Given the description of an element on the screen output the (x, y) to click on. 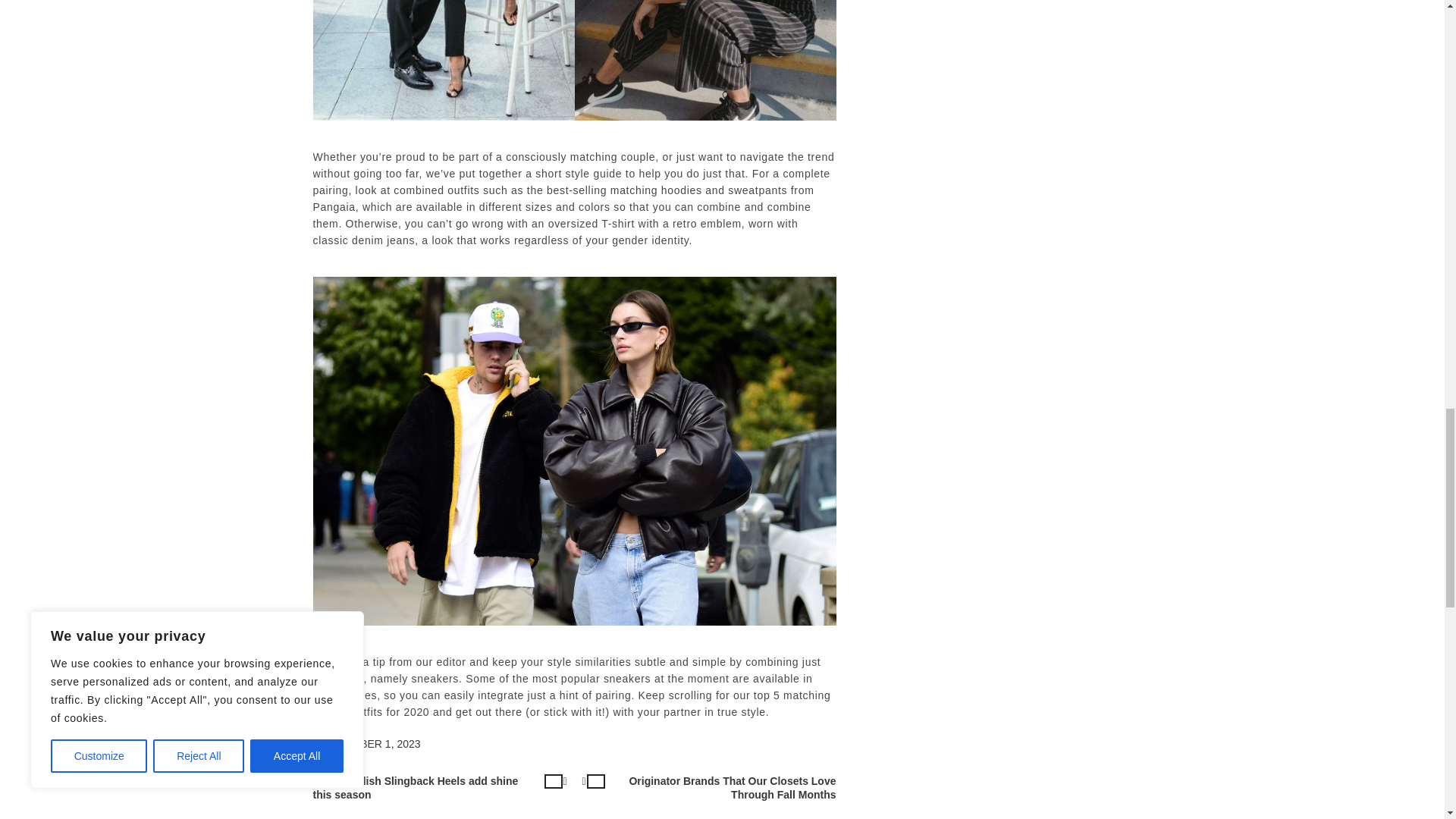
These Stylish Slingback Heels add shine this season (443, 788)
Originator Brands That Our Closets Love Through Fall Months (705, 788)
SEPTEMBER 1, 2023 (368, 743)
